Given the description of an element on the screen output the (x, y) to click on. 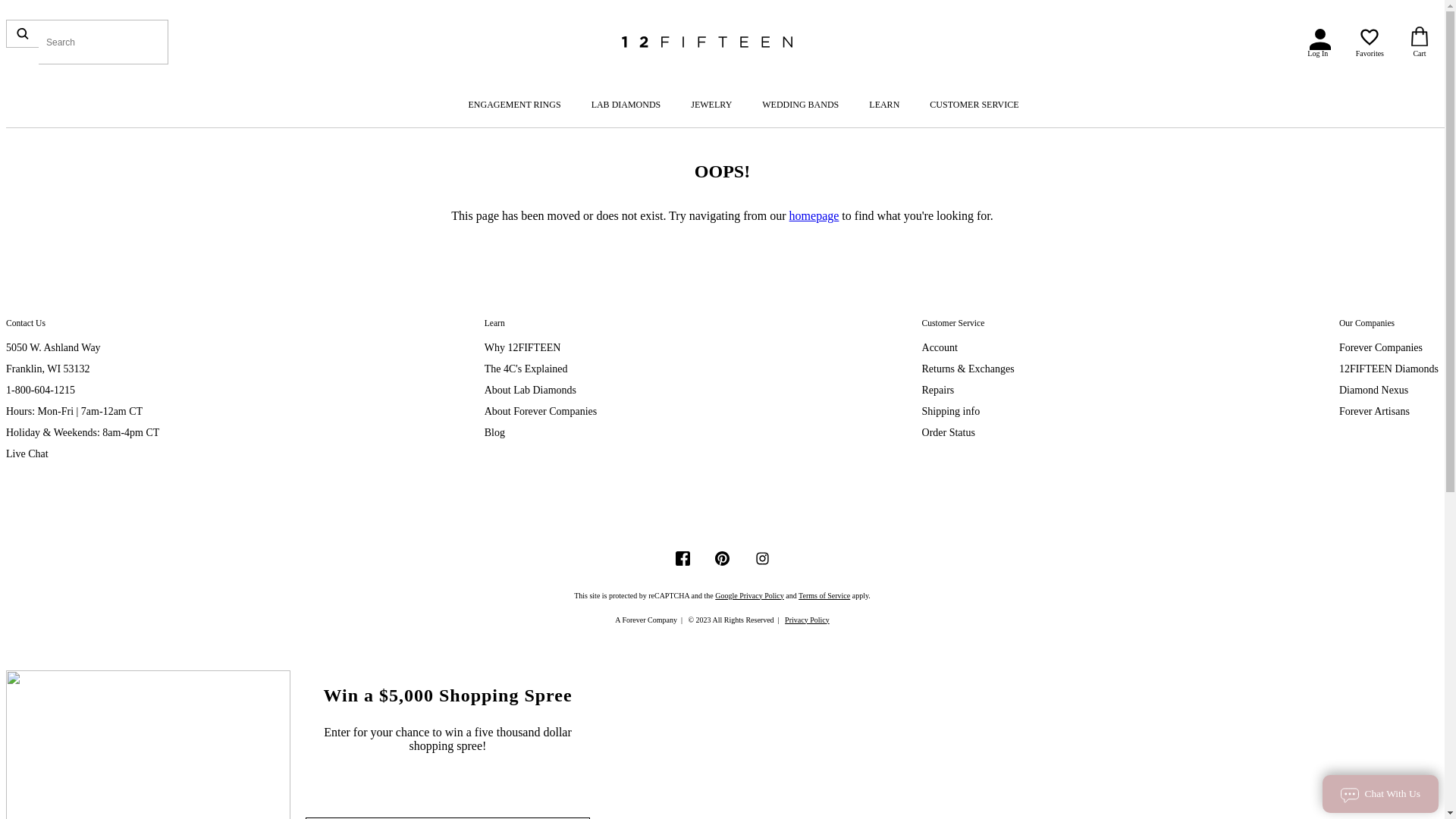
Shipping info Element type: text (951, 411)
About Lab Diamonds Element type: text (530, 389)
The 4C's Explained Element type: text (525, 368)
Forever Companies Element type: text (1380, 347)
About Forever Companies Element type: text (540, 411)
Account Element type: text (939, 347)
Repairs Element type: text (938, 389)
Returns & Exchanges Element type: text (968, 368)
Favorites Element type: text (1369, 41)
Log In Element type: text (1317, 41)
1-800-604-1215 Element type: text (40, 389)
Live Chat Element type: text (27, 453)
Terms of Service Element type: text (824, 595)
Privacy Policy Element type: text (806, 619)
Google Privacy Policy Element type: text (749, 595)
Order Status Element type: text (948, 432)
Why 12FIFTEEN Element type: text (522, 347)
homepage Element type: text (814, 215)
12FIFTEEN Diamonds Element type: text (1388, 368)
Blog Element type: text (494, 432)
Diamond Nexus Element type: text (1373, 389)
Forever Artisans Element type: text (1374, 411)
